Given the description of an element on the screen output the (x, y) to click on. 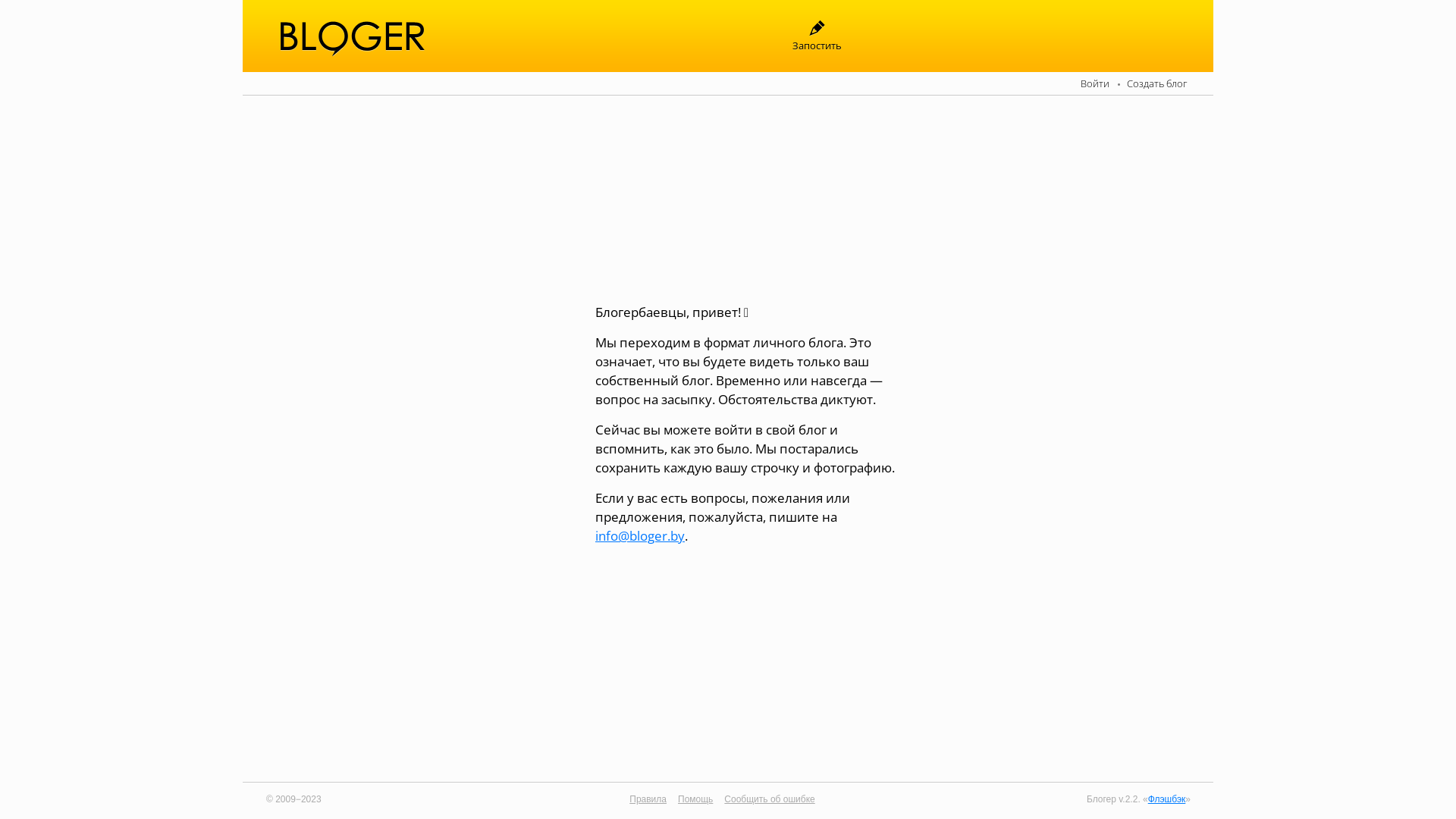
info@bloger.by Element type: text (639, 534)
